Given the description of an element on the screen output the (x, y) to click on. 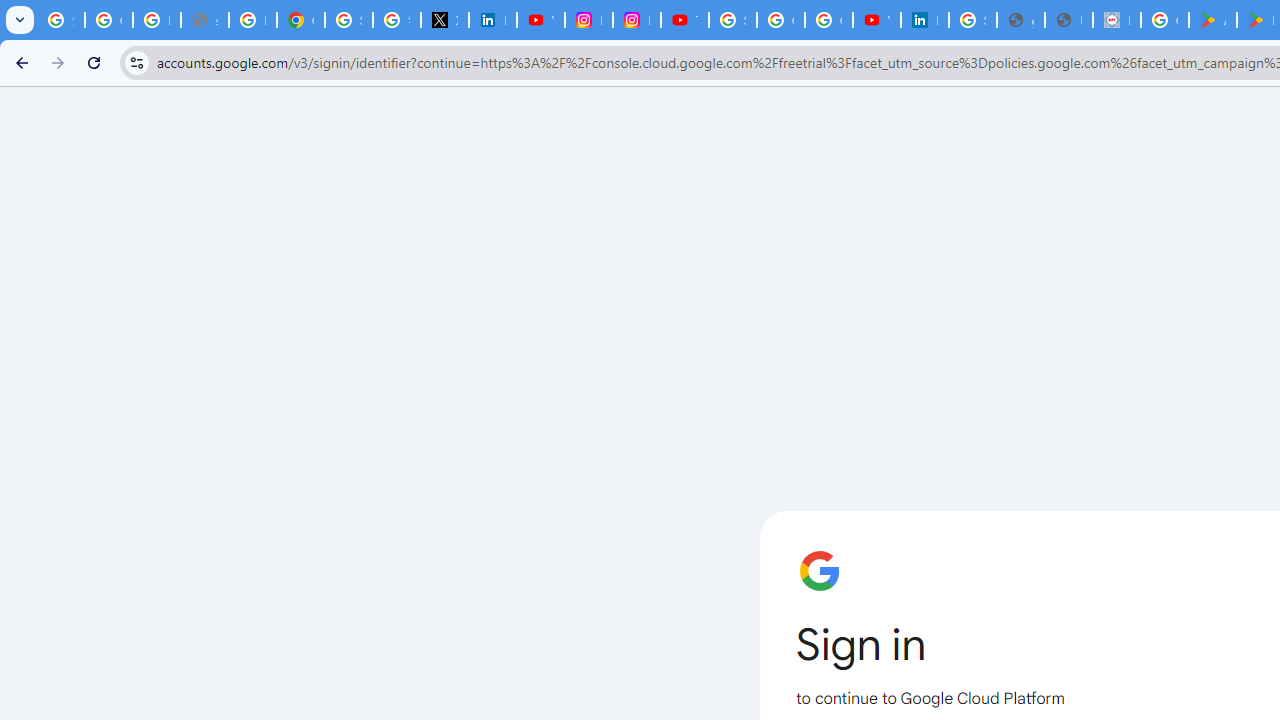
support.google.com - Network error (204, 20)
google_privacy_policy_en.pdf (1020, 20)
Android Apps on Google Play (1212, 20)
Privacy Help Center - Policies Help (252, 20)
User Details (1068, 20)
